Given the description of an element on the screen output the (x, y) to click on. 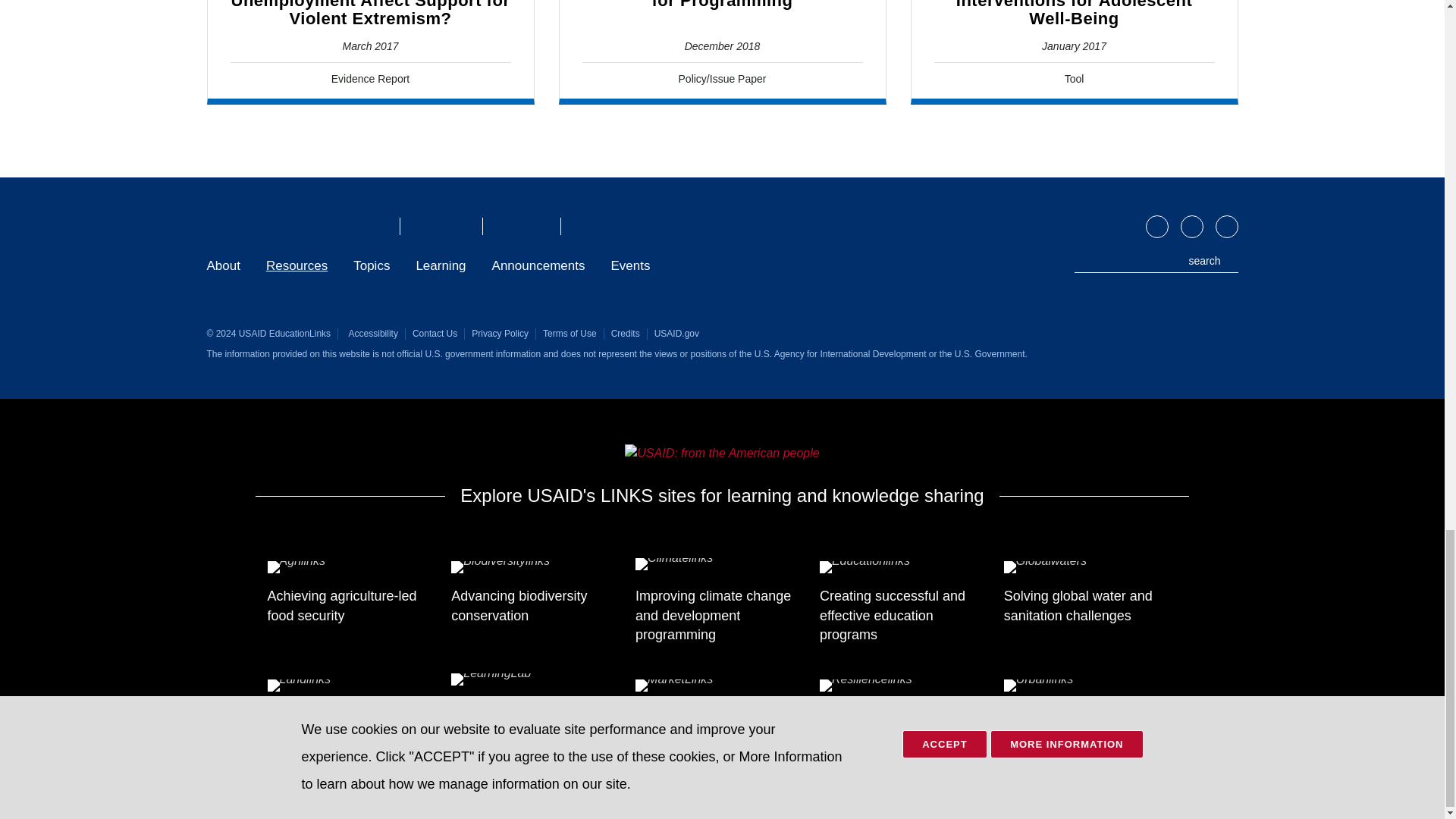
Go to Agrilinks (353, 569)
SUBSCRIBE (1225, 226)
Home (295, 226)
Global Reading Network (512, 226)
Higher Education Learning Network (592, 226)
Go to Biodiversitylinks (537, 569)
Go to USAID (721, 453)
